Given the description of an element on the screen output the (x, y) to click on. 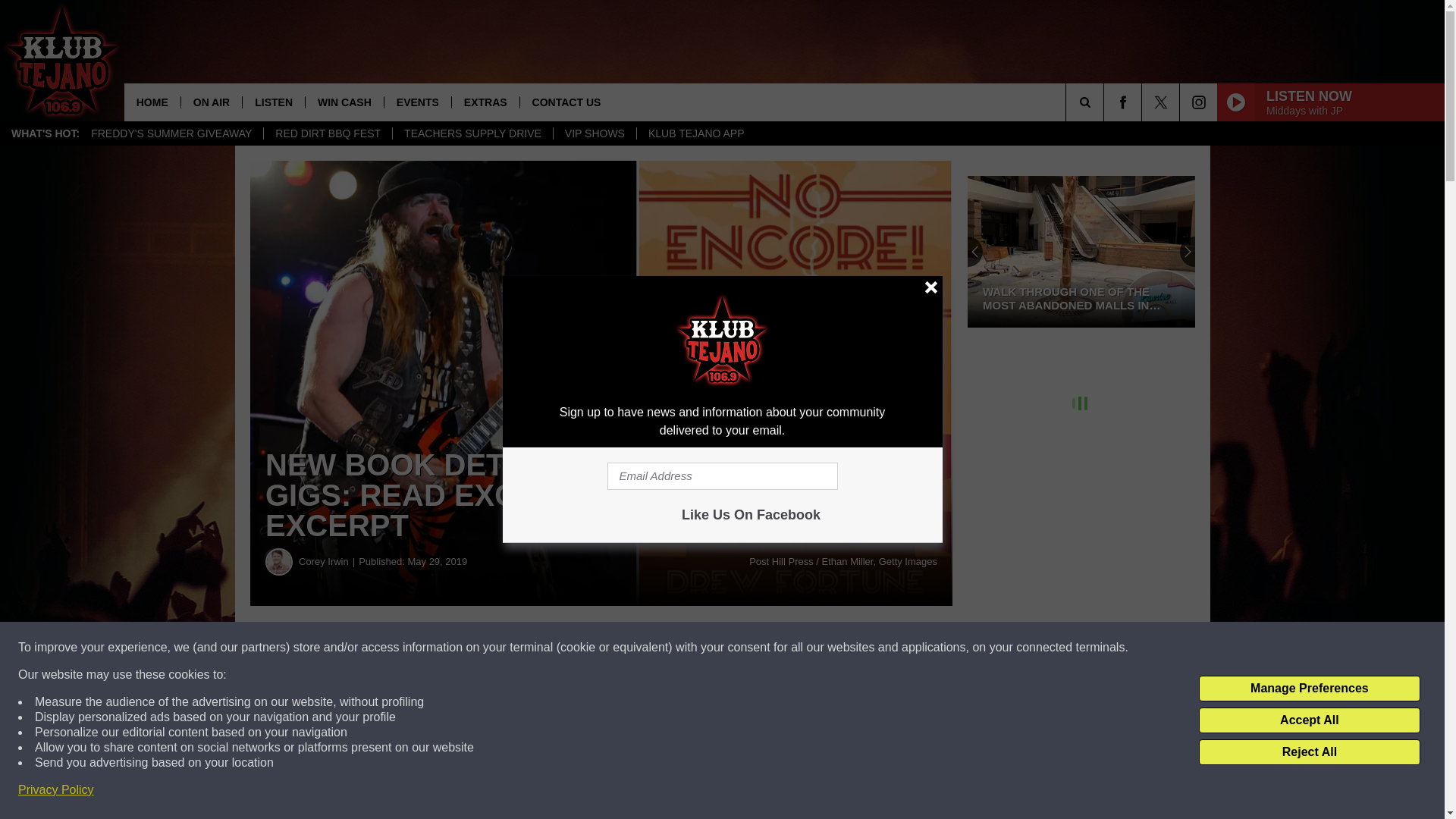
Accept All (1309, 720)
WIN CASH (344, 102)
Share on Facebook (460, 647)
Email Address (722, 475)
LISTEN (272, 102)
TEACHERS SUPPLY DRIVE (472, 133)
Privacy Policy (55, 789)
EVENTS (417, 102)
Reject All (1309, 751)
RED DIRT BBQ FEST (327, 133)
Share on Twitter (741, 647)
Manage Preferences (1309, 688)
CONTACT US (565, 102)
VIP SHOWS (594, 133)
SEARCH (1106, 102)
